Given the description of an element on the screen output the (x, y) to click on. 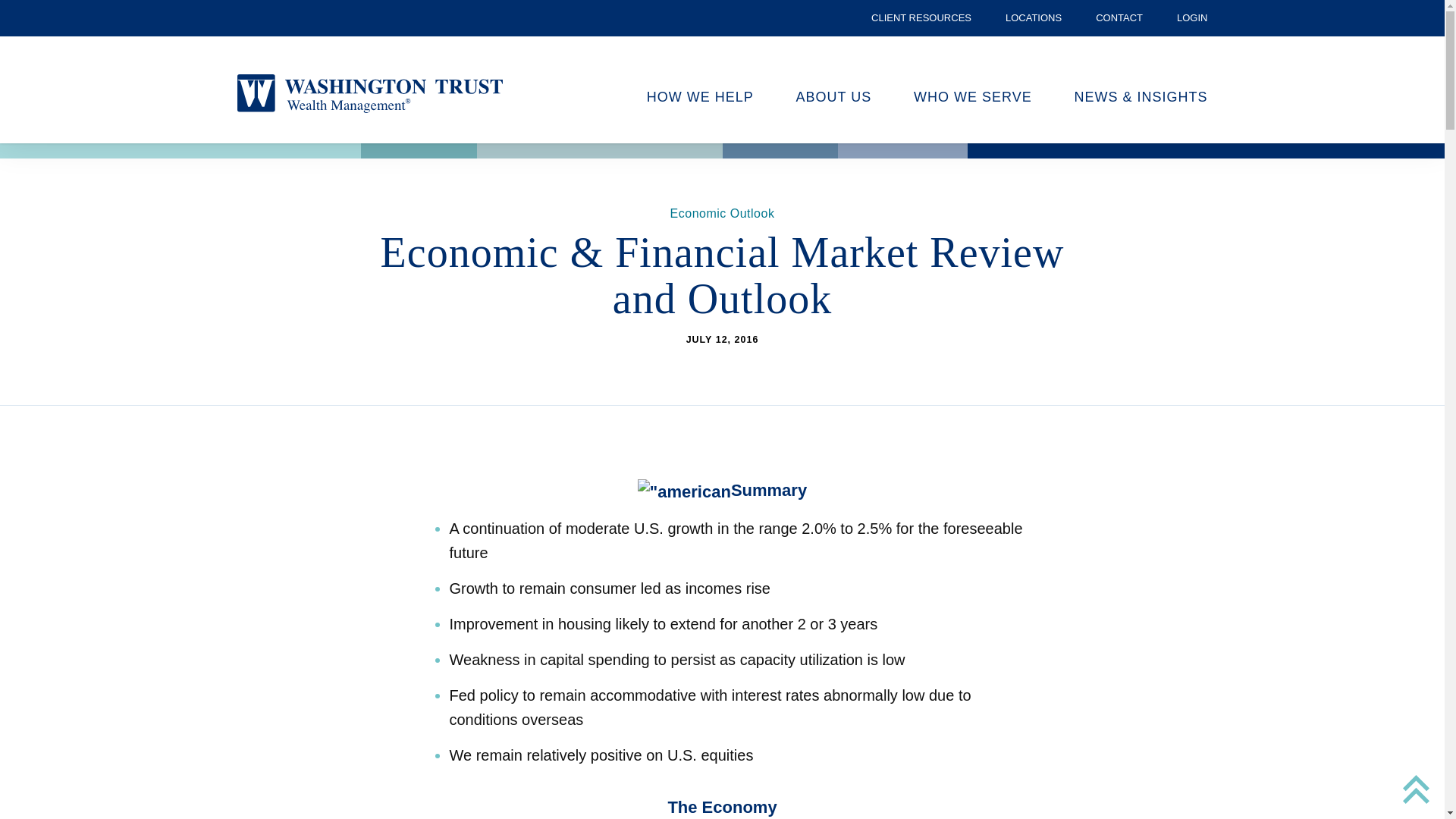
CONTACT (1119, 17)
LOGIN (1191, 17)
HOW WE HELP (700, 97)
LOCATIONS (1033, 17)
WHO WE SERVE (973, 97)
CLIENT RESOURCES (920, 17)
ABOUT US (834, 97)
